Given the description of an element on the screen output the (x, y) to click on. 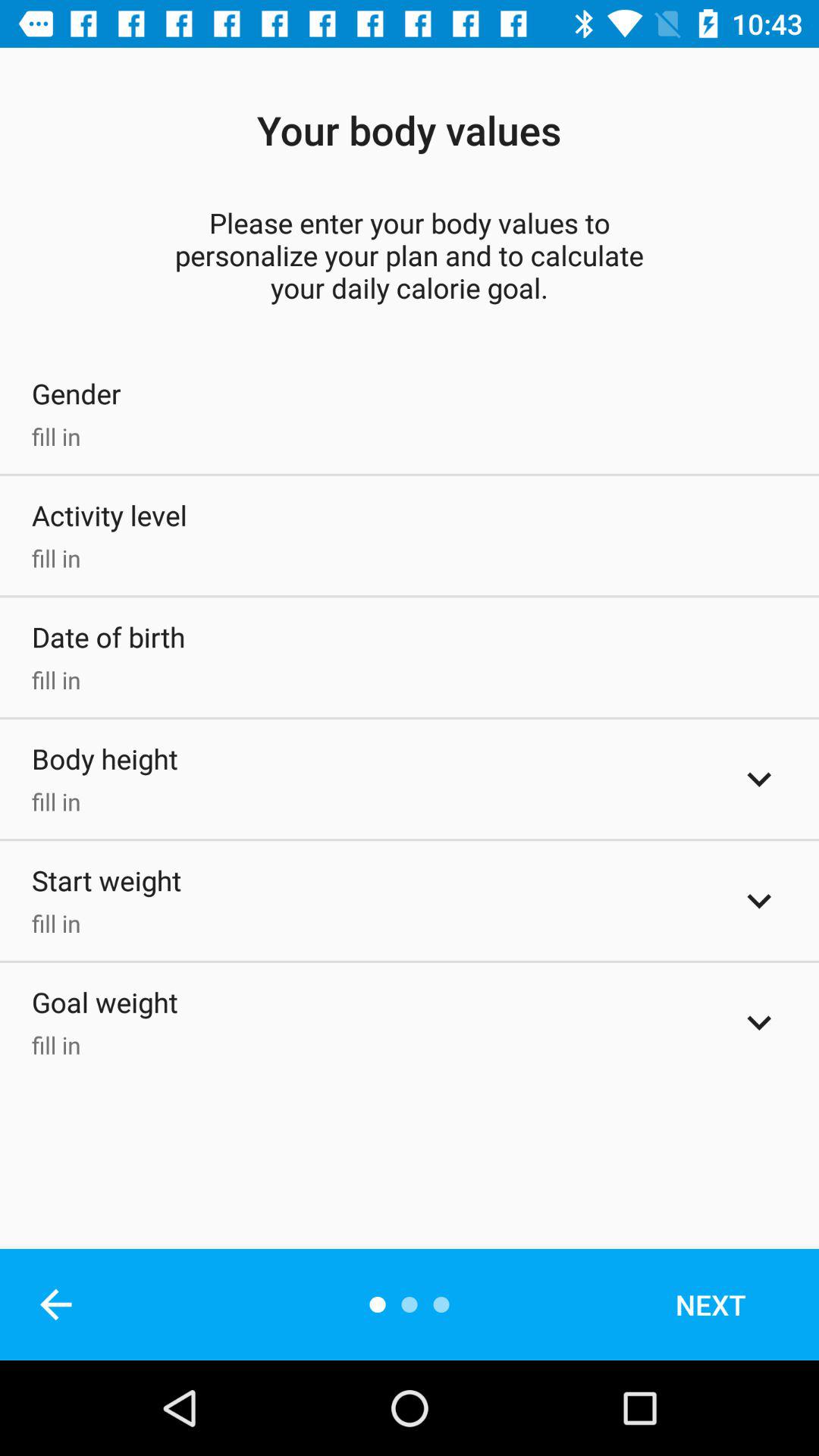
click the icon below fill in item (55, 1304)
